Given the description of an element on the screen output the (x, y) to click on. 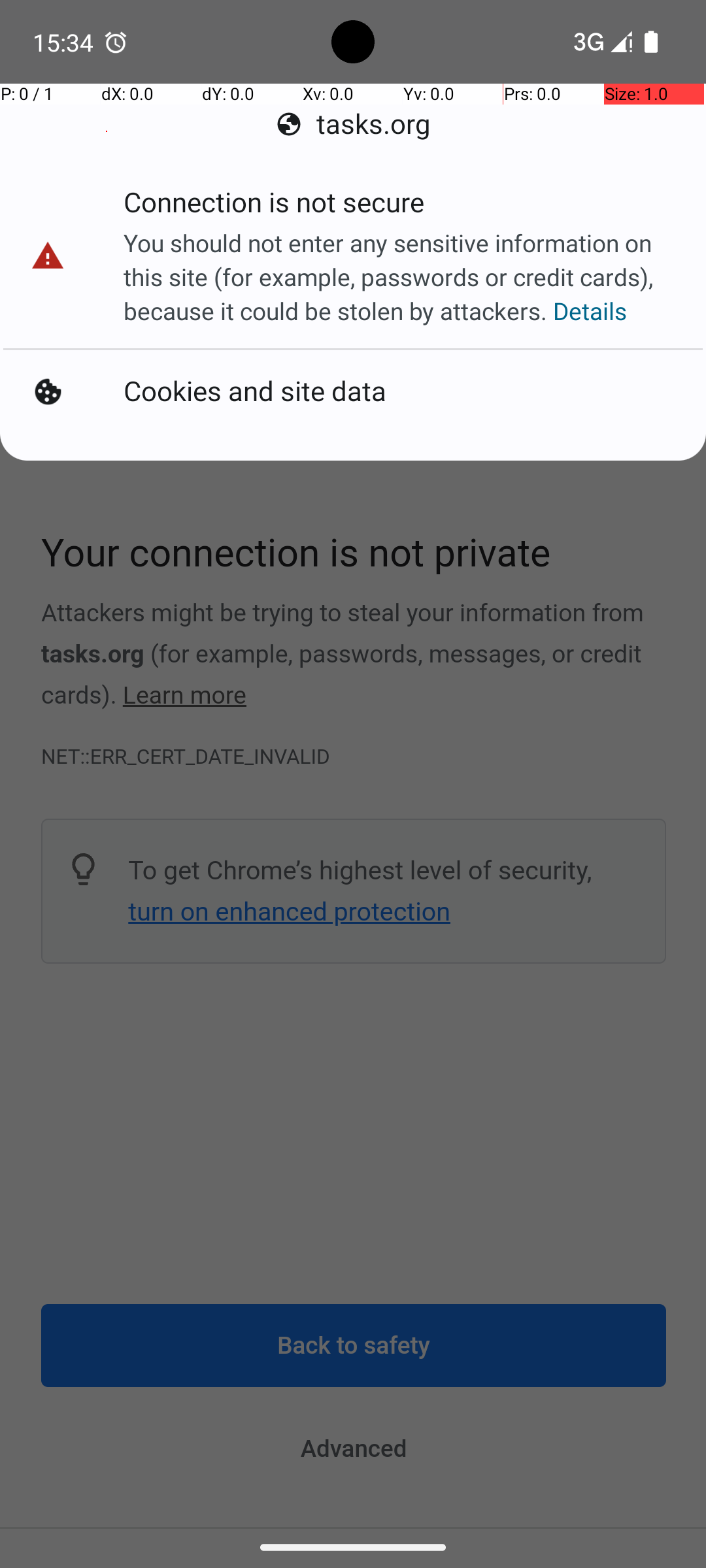
tasks.org Element type: android.widget.TextView (352, 124)
